Given the description of an element on the screen output the (x, y) to click on. 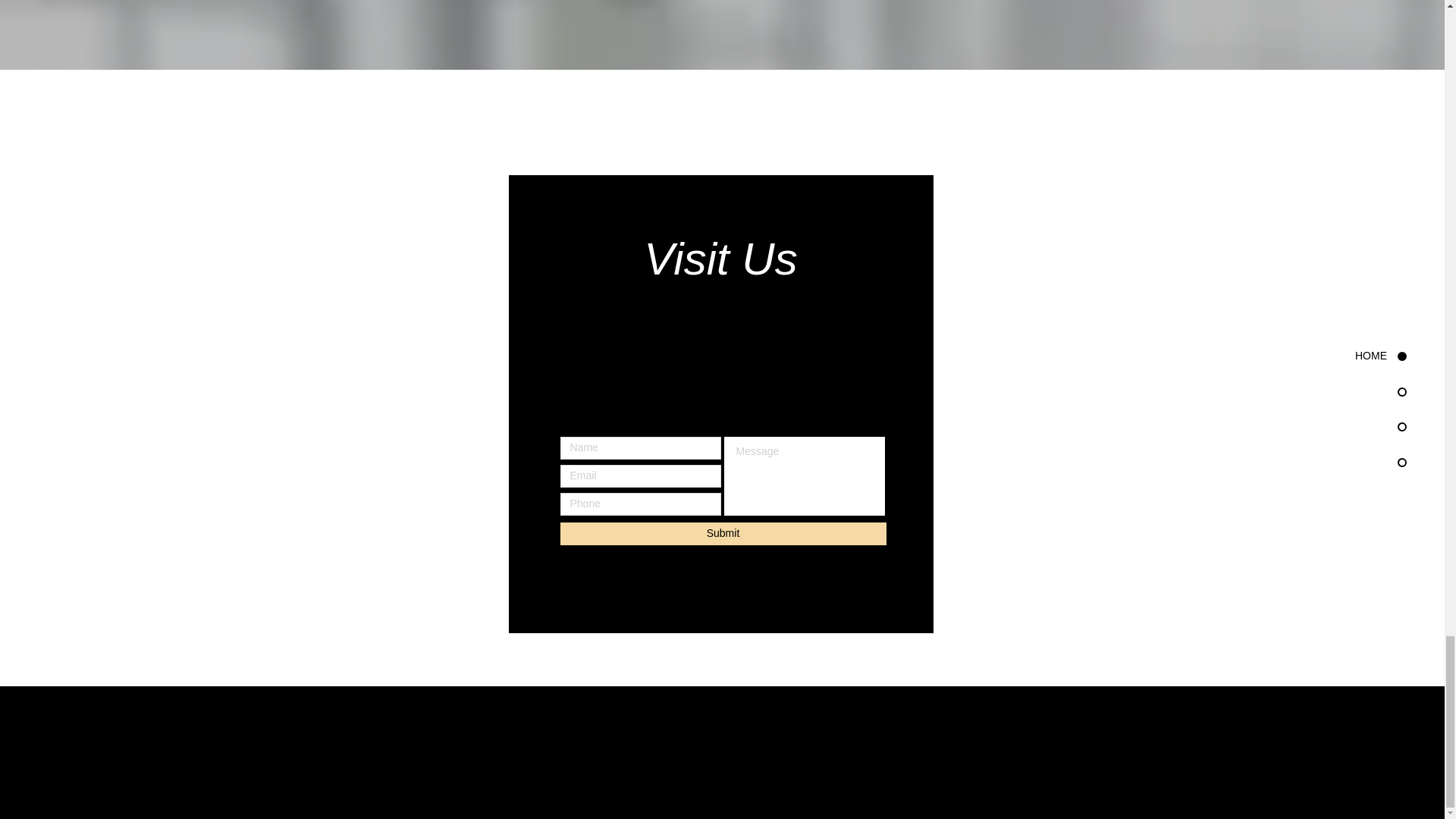
Submit (722, 533)
